Given the description of an element on the screen output the (x, y) to click on. 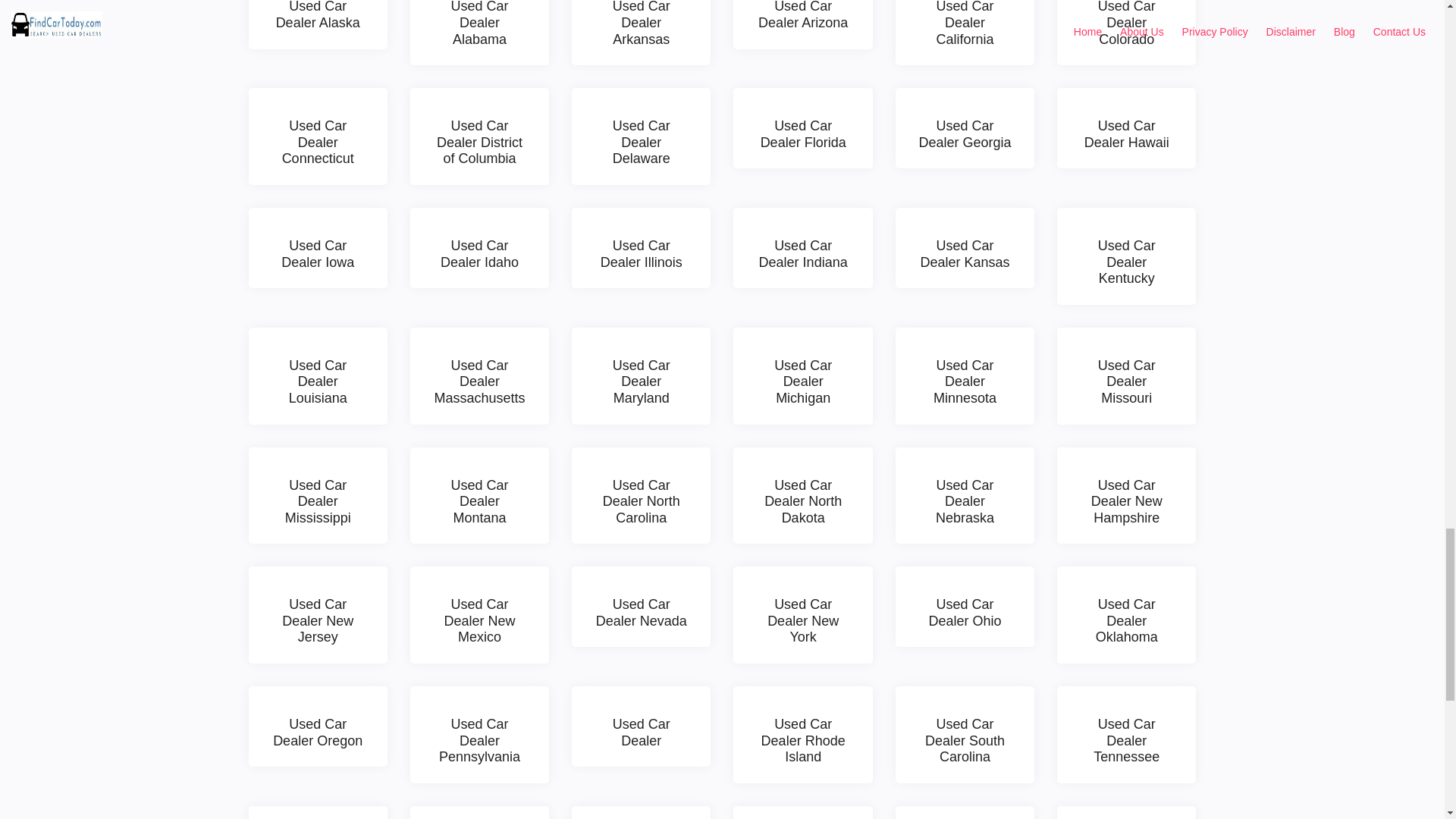
Used Car Dealer Alaska (317, 24)
Used Car Dealer Arkansas (641, 32)
Used Car Dealer Alabama (479, 32)
